Given the description of an element on the screen output the (x, y) to click on. 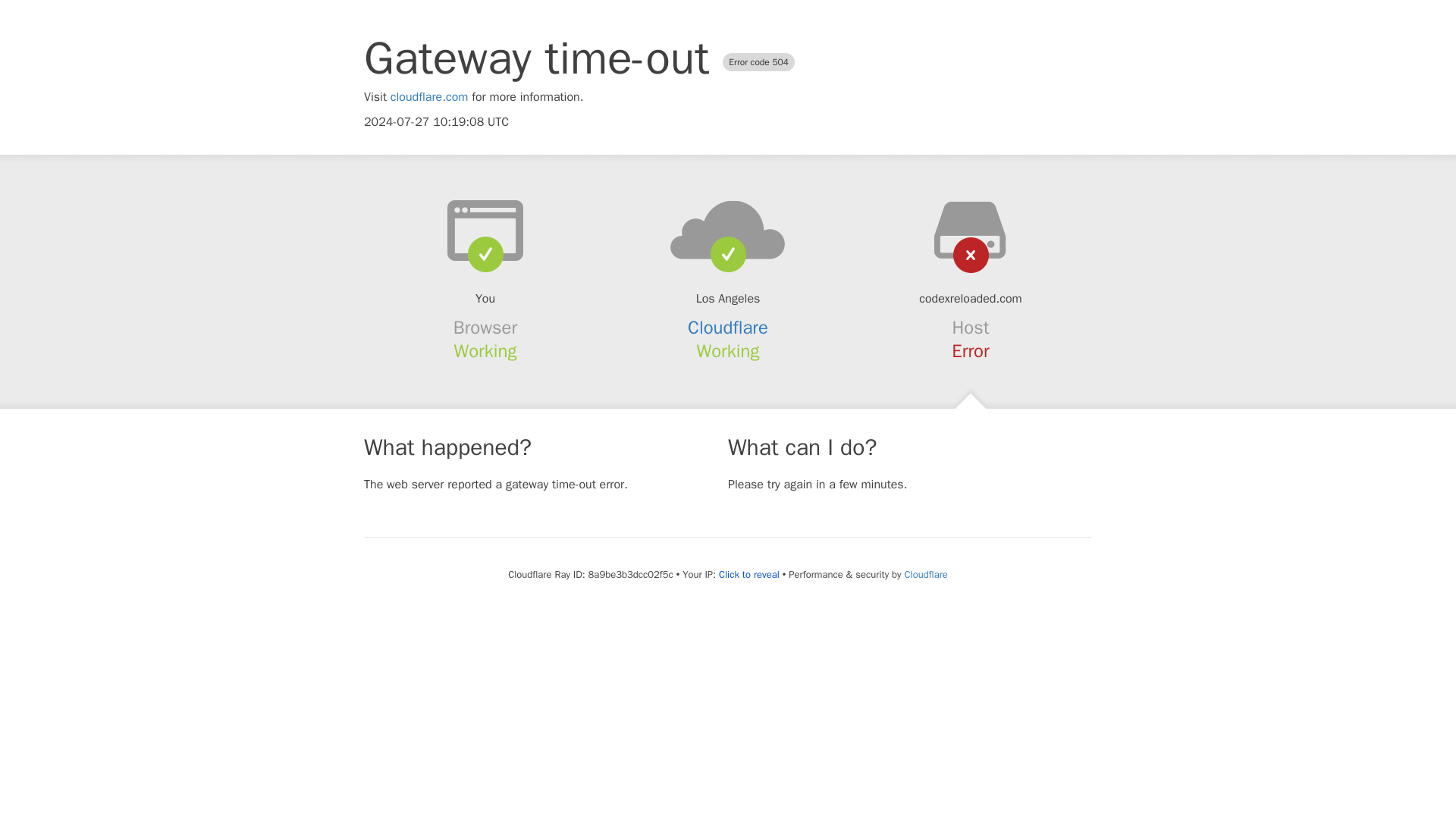
Cloudflare (925, 574)
Cloudflare (727, 327)
cloudflare.com (429, 96)
Click to reveal (748, 574)
